Given the description of an element on the screen output the (x, y) to click on. 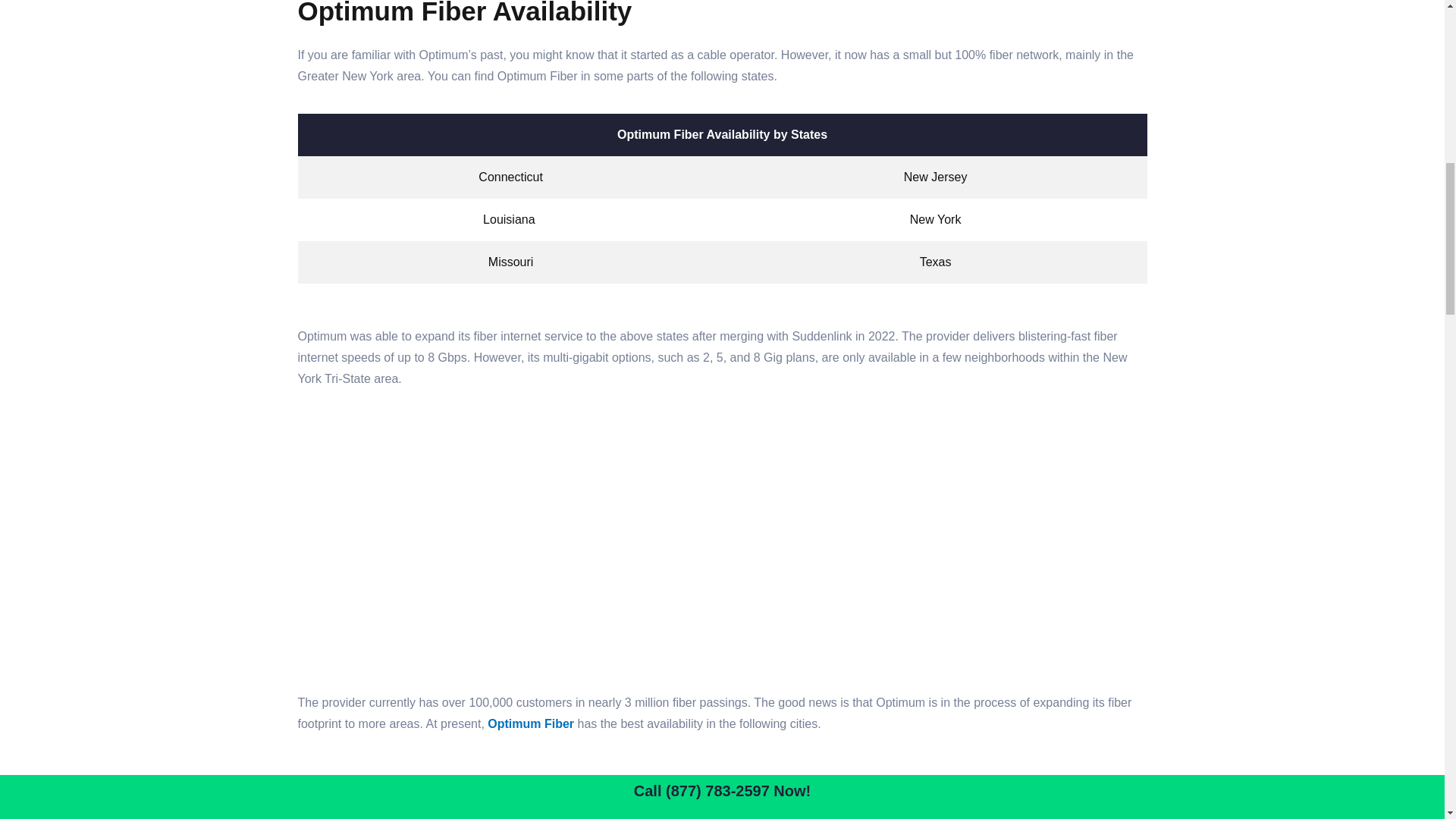
Optimum Fiber (530, 723)
